Given the description of an element on the screen output the (x, y) to click on. 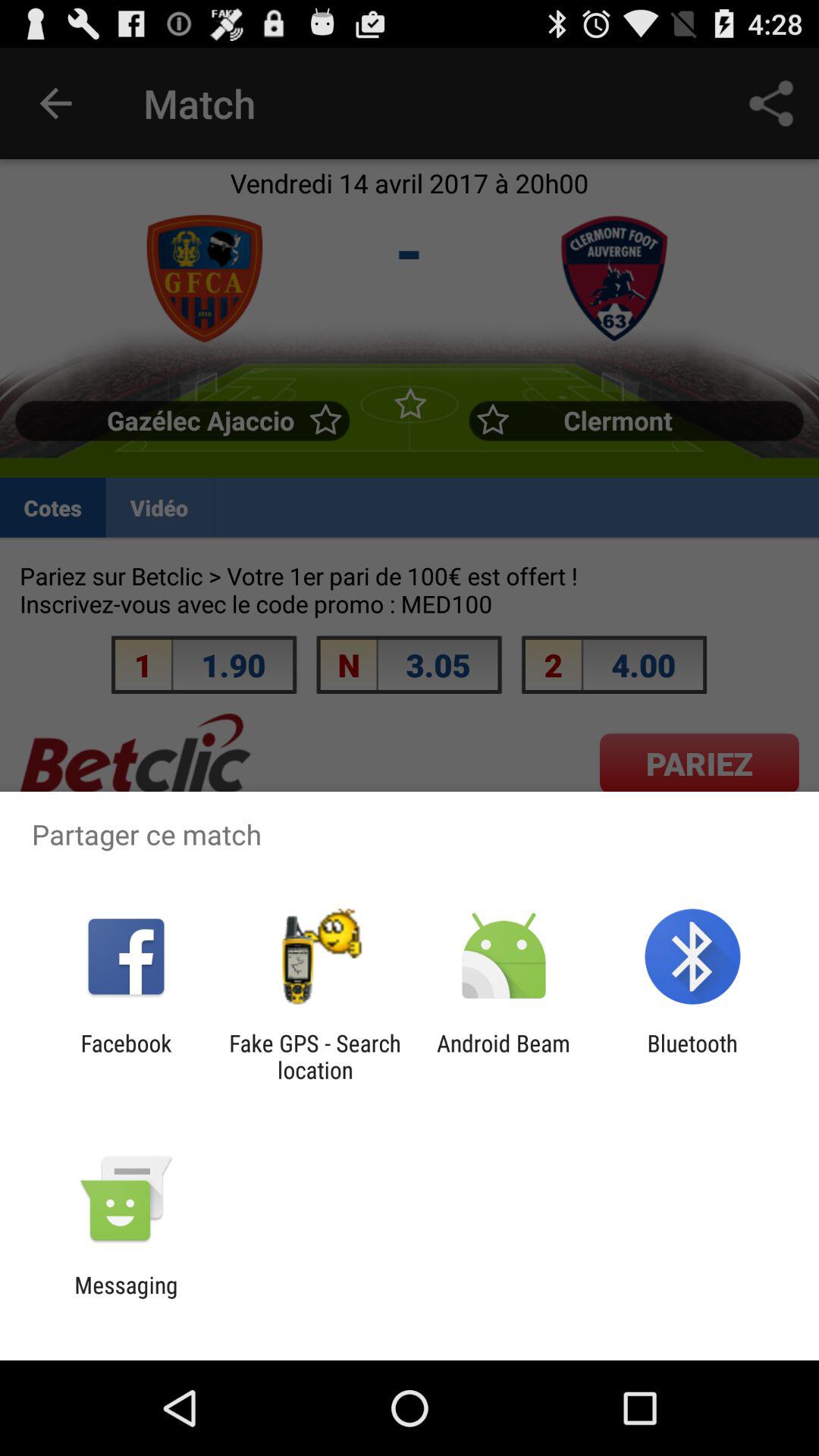
turn on bluetooth at the bottom right corner (692, 1056)
